Given the description of an element on the screen output the (x, y) to click on. 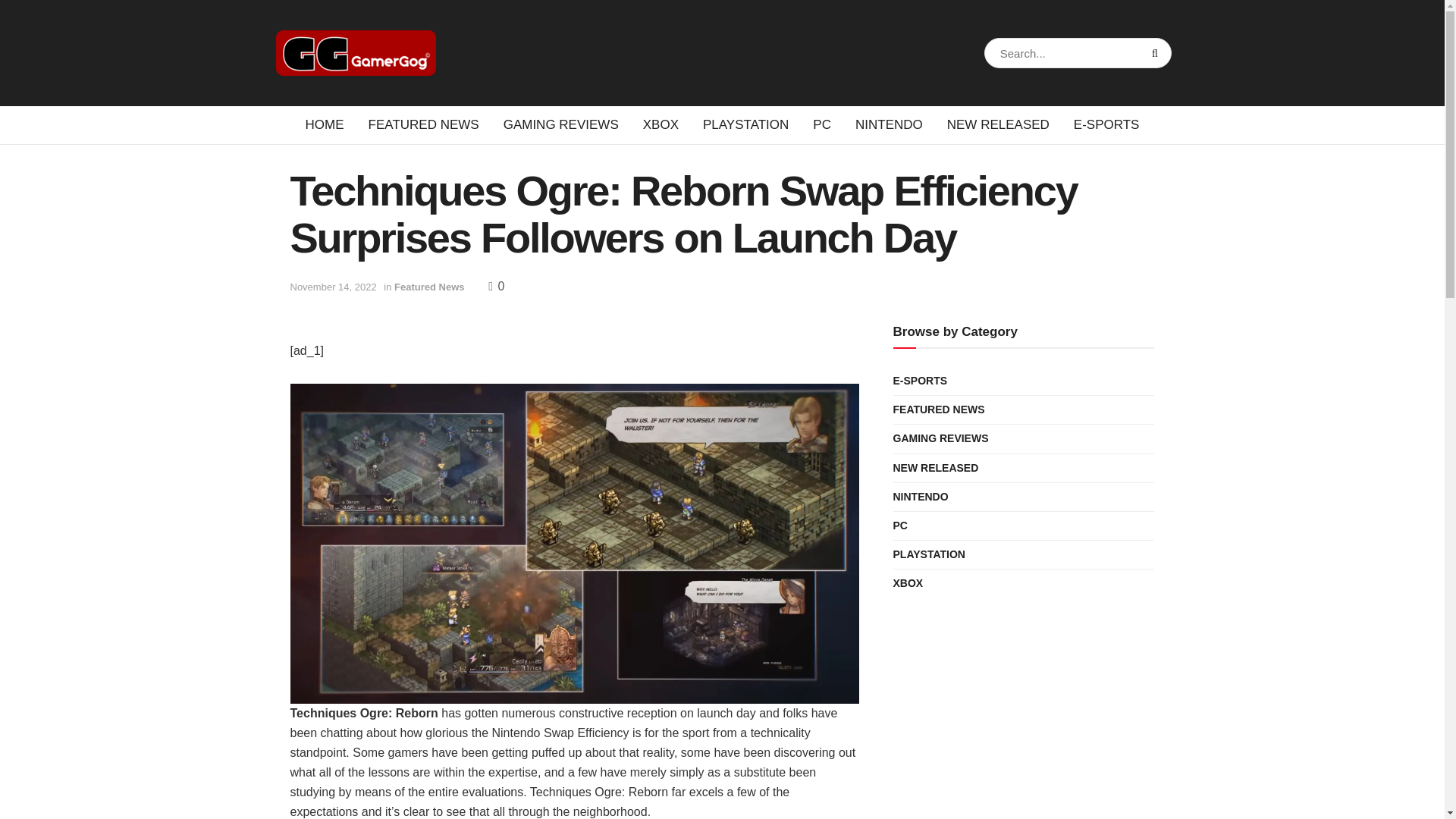
XBOX (660, 125)
E-SPORTS (1106, 125)
November 14, 2022 (332, 286)
HOME (325, 125)
FEATURED NEWS (424, 125)
NEW RELEASED (997, 125)
NINTENDO (888, 125)
GAMING REVIEWS (561, 125)
Featured News (429, 286)
